Given the description of an element on the screen output the (x, y) to click on. 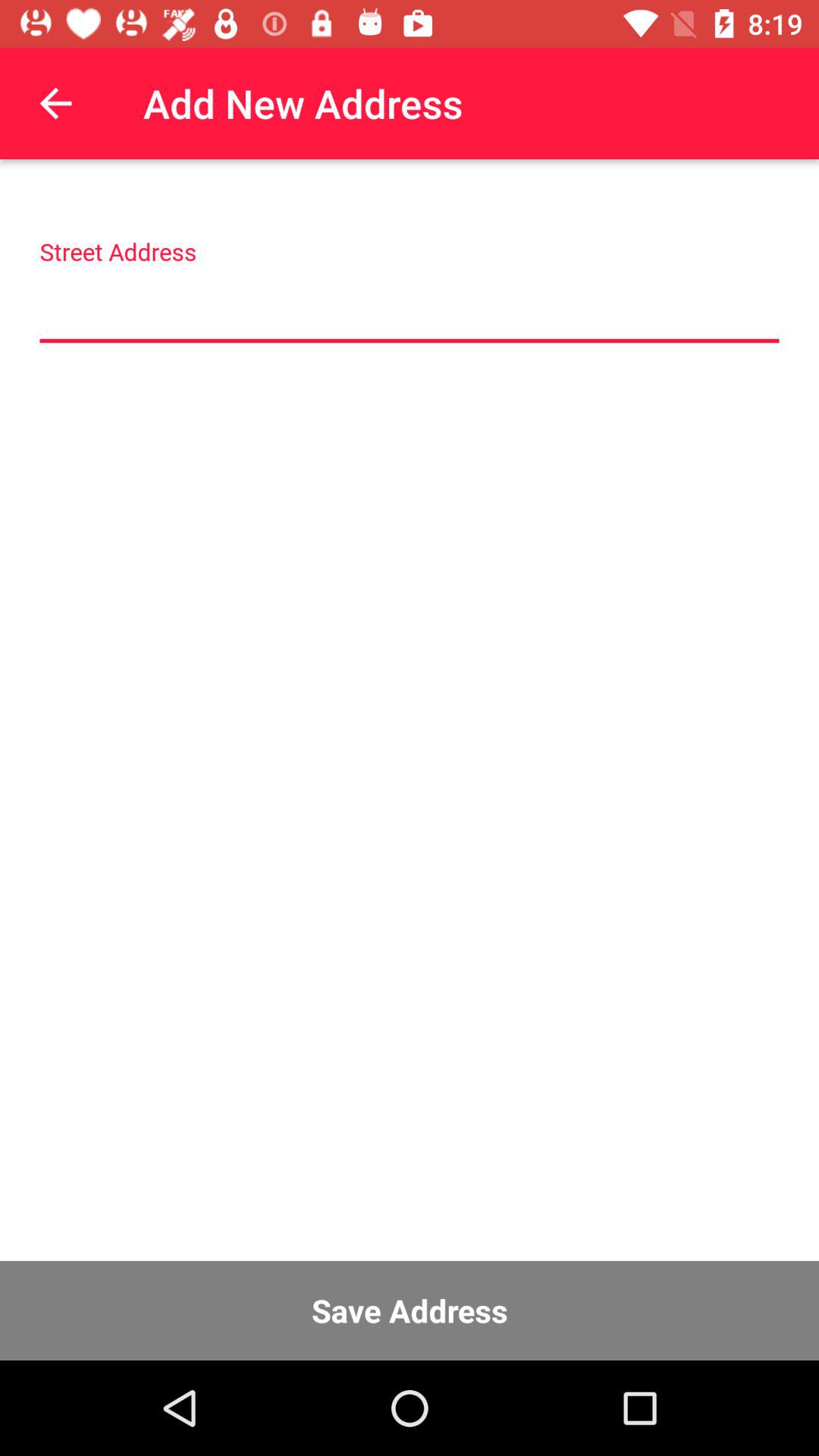
address input field (409, 308)
